Given the description of an element on the screen output the (x, y) to click on. 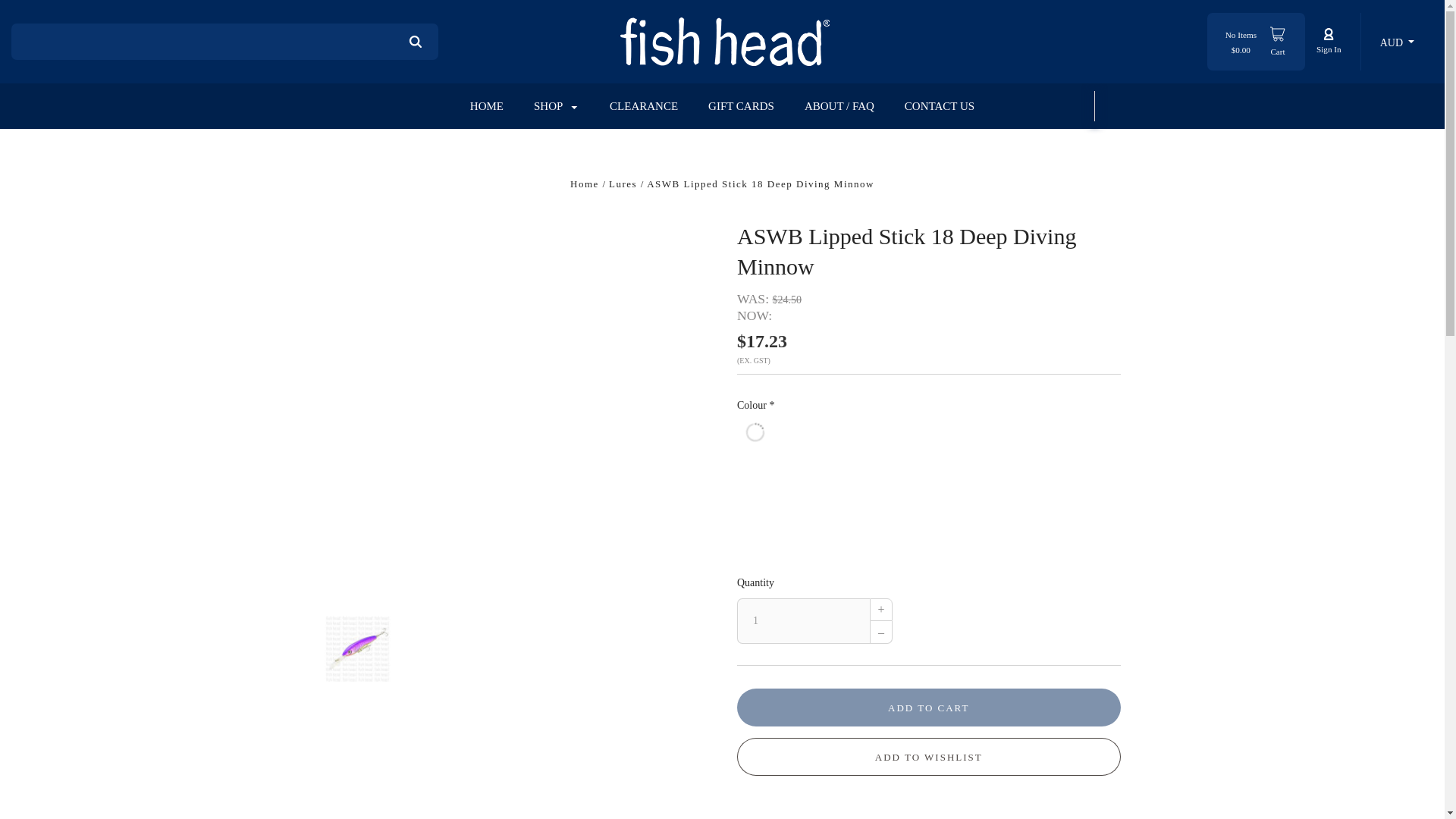
SHOP (555, 105)
ASWB Lipped Stick 18 Deep Diving Minnow (357, 648)
HOME (486, 105)
1 (802, 620)
